Given the description of an element on the screen output the (x, y) to click on. 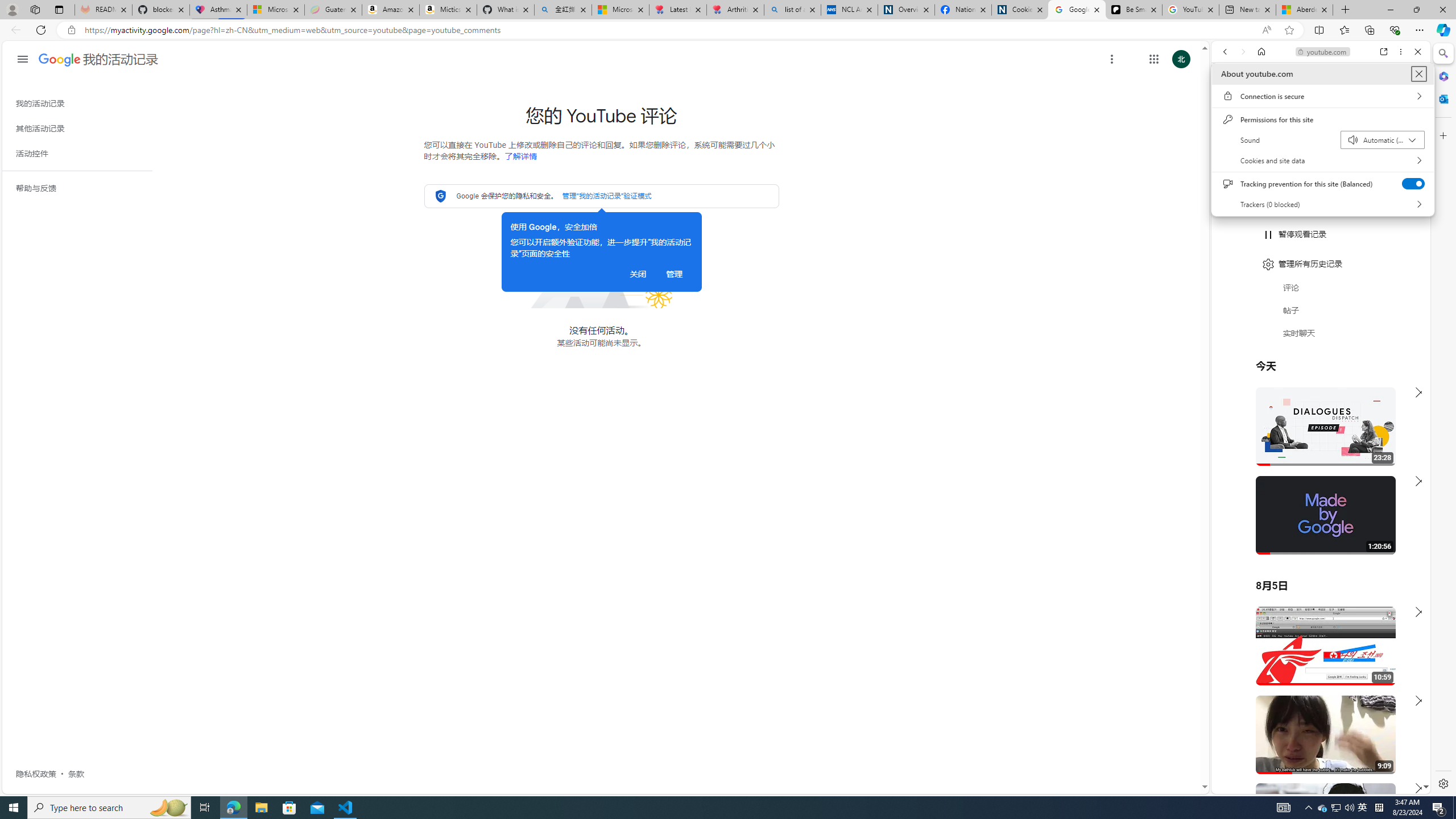
Action Center, 2 new notifications (1439, 807)
Aberdeen, Hong Kong SAR hourly forecast | Microsoft Weather (1304, 9)
Search videos from youtube.com (1299, 373)
